Given the description of an element on the screen output the (x, y) to click on. 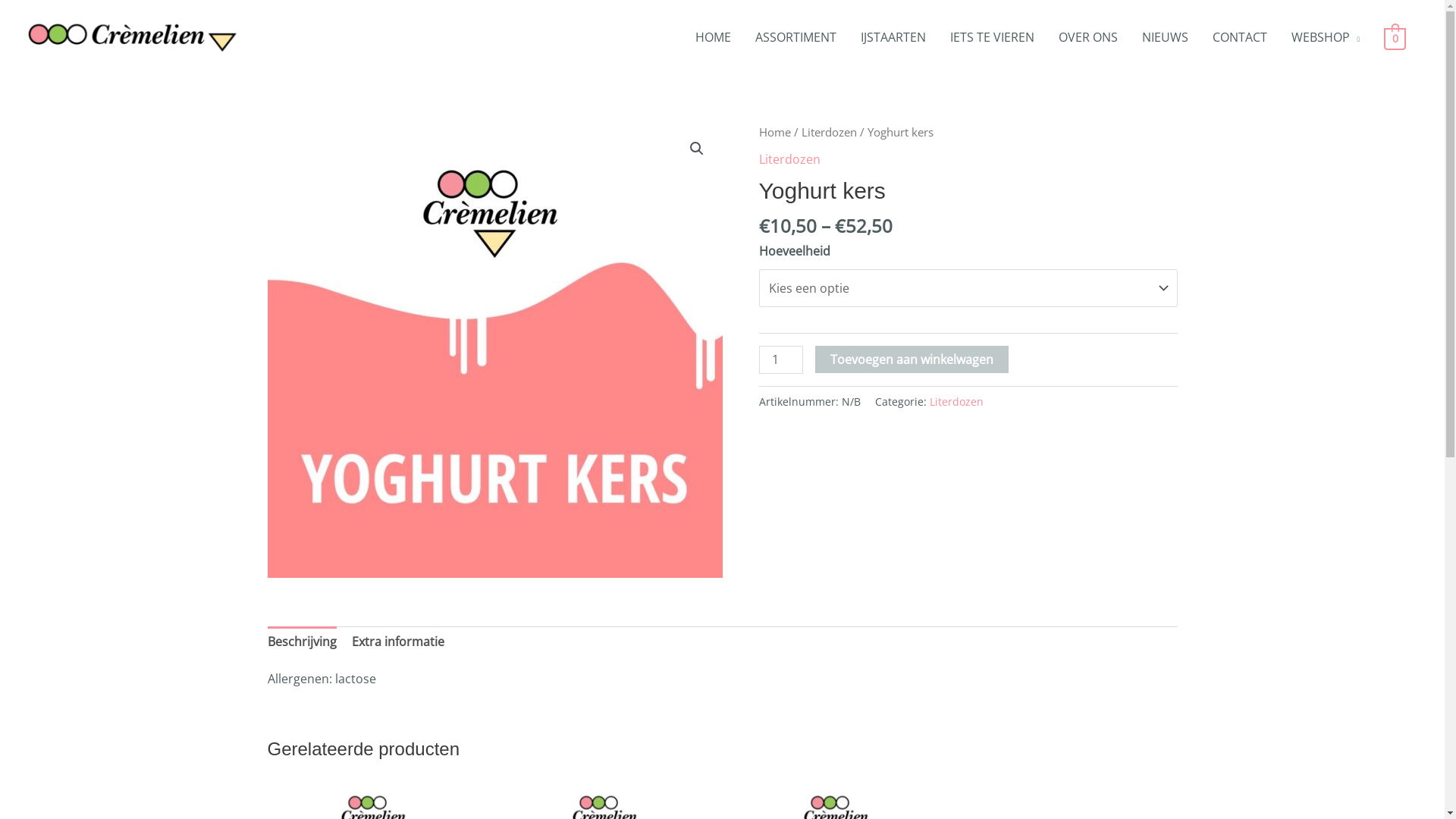
CONTACT Element type: text (1239, 36)
Literdozen Element type: text (956, 401)
HOME Element type: text (713, 36)
0 Element type: text (1394, 37)
WEBSHOP Element type: text (1325, 36)
OVER ONS Element type: text (1087, 36)
Extra informatie Element type: text (397, 642)
Literdozen Element type: text (828, 131)
IETS TE VIEREN Element type: text (992, 36)
ASSORTIMENT Element type: text (795, 36)
IJSTAARTEN Element type: text (893, 36)
Literdozen Element type: text (788, 158)
Beschrijving Element type: text (300, 642)
Toevoegen aan winkelwagen Element type: text (911, 359)
IMG_6411 Element type: hover (493, 349)
NIEUWS Element type: text (1164, 36)
Home Element type: text (774, 131)
